Given the description of an element on the screen output the (x, y) to click on. 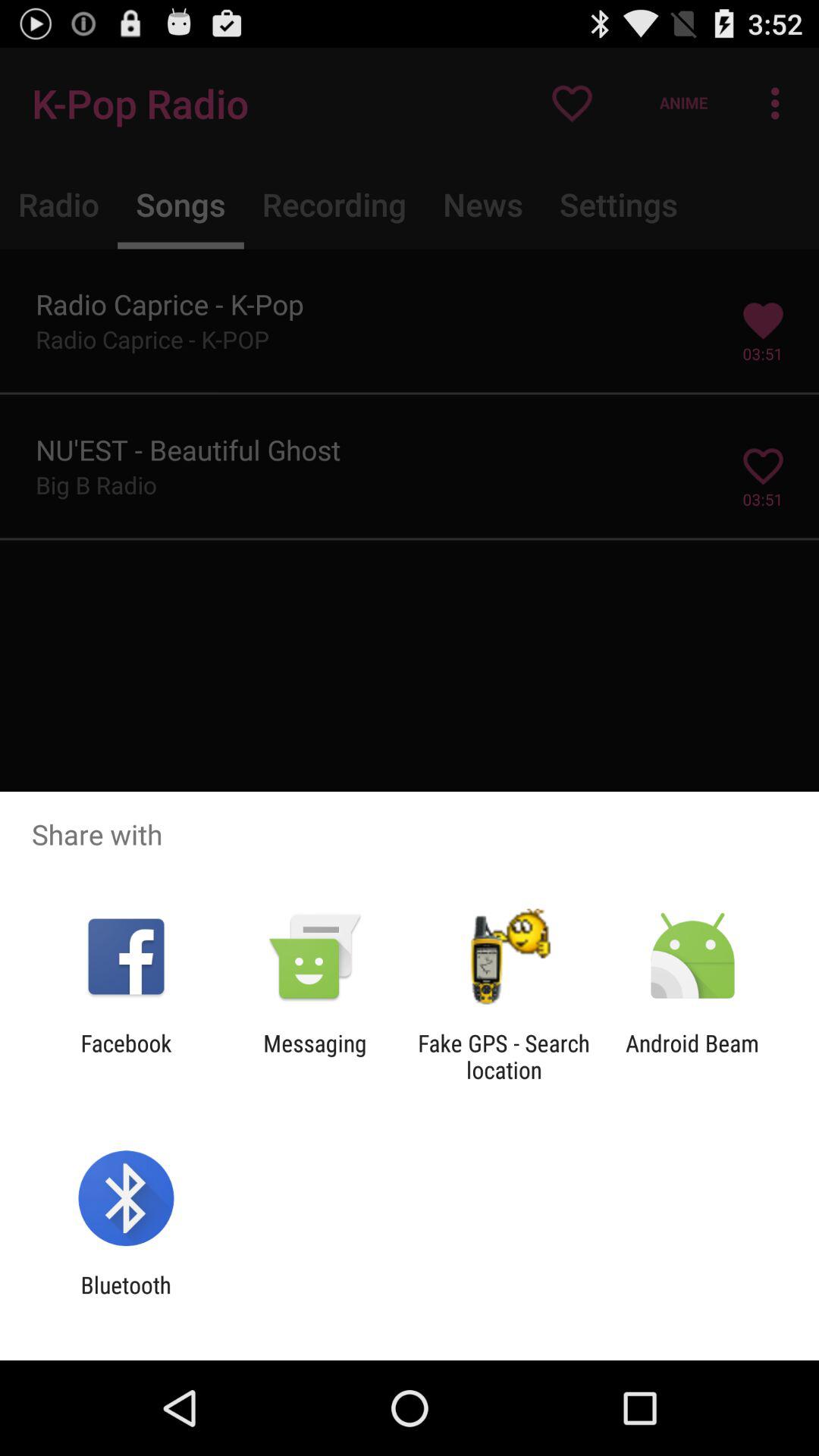
turn on the android beam app (692, 1056)
